Given the description of an element on the screen output the (x, y) to click on. 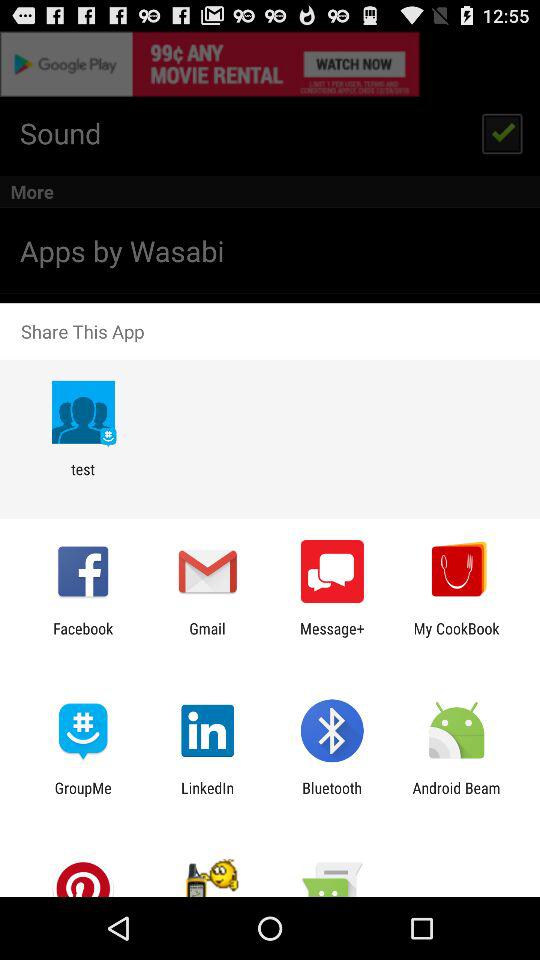
launch the item to the right of the message+ icon (456, 637)
